Given the description of an element on the screen output the (x, y) to click on. 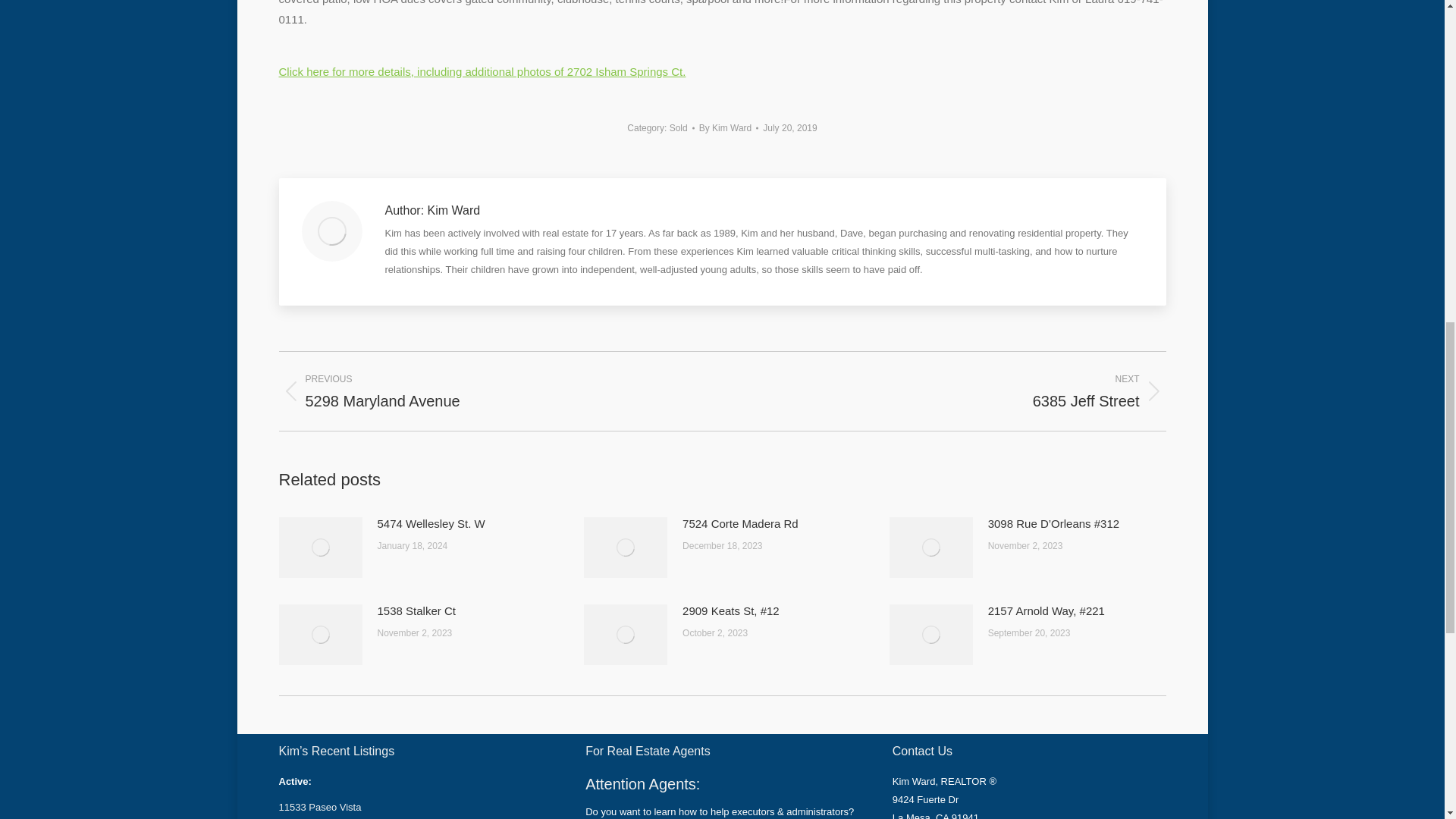
View all posts by Kim Ward (728, 127)
11:32 am (789, 127)
